Given the description of an element on the screen output the (x, y) to click on. 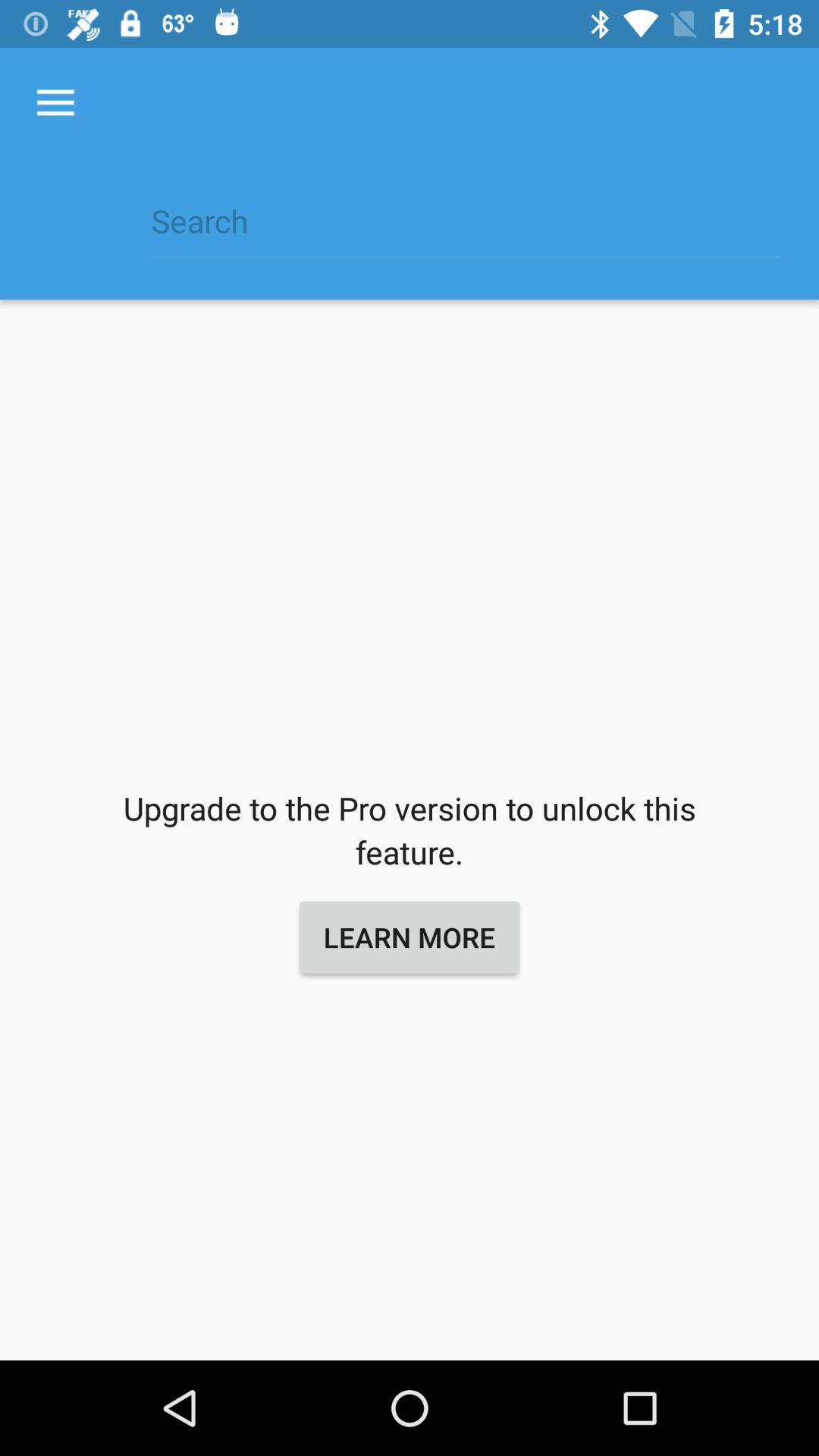
turn on the item at the top left corner (55, 103)
